Given the description of an element on the screen output the (x, y) to click on. 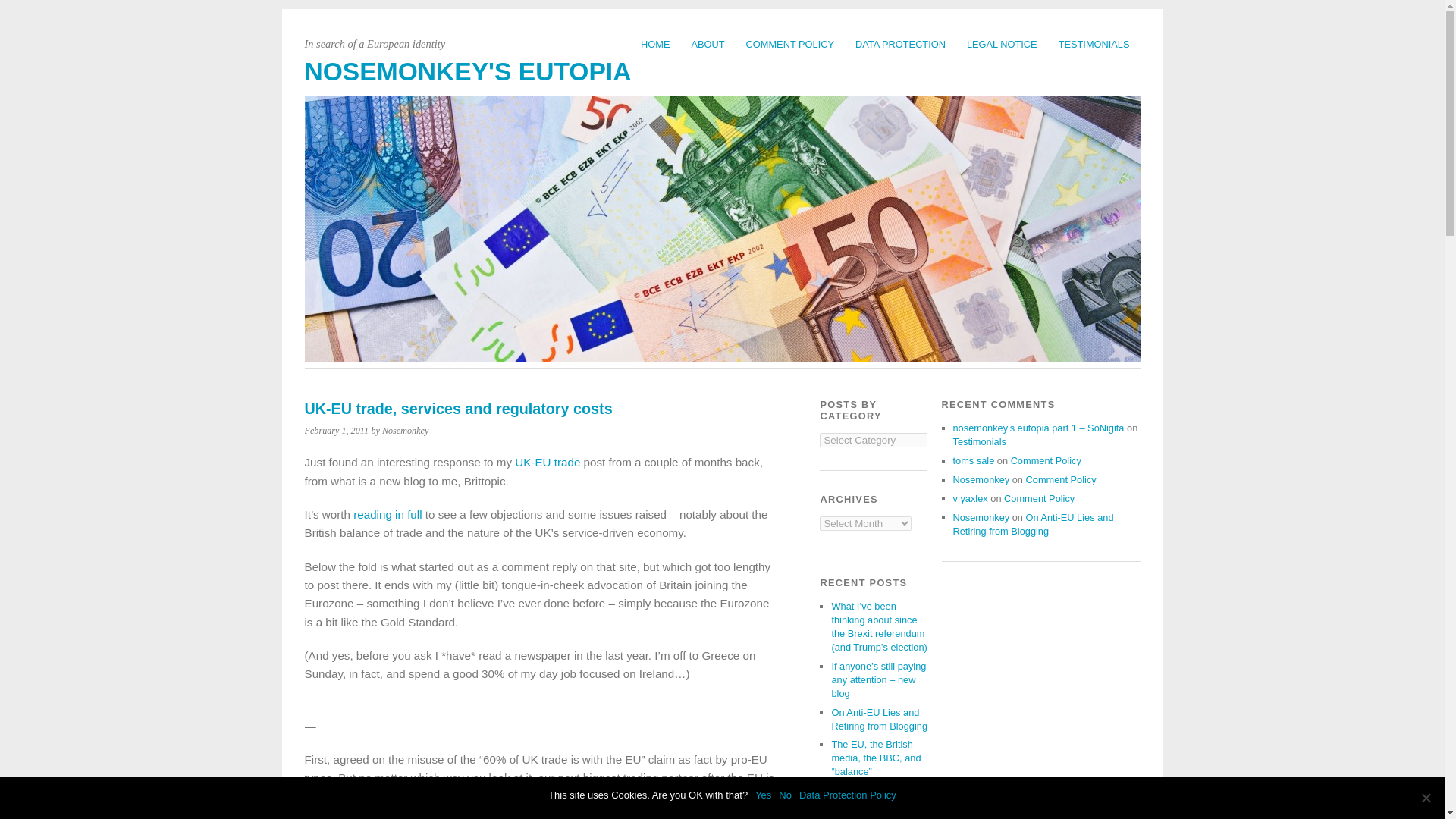
COMMENT POLICY (789, 43)
TESTIMONIALS (1094, 43)
v yaxlex (969, 498)
Nosemonkey (980, 517)
No (1425, 797)
Comment Policy (1061, 479)
NOSEMONKEY'S EUTOPIA (467, 71)
On Anti-EU Lies and Retiring from Blogging (879, 719)
ABOUT (708, 43)
reading in full (387, 513)
LEGAL NOTICE (1002, 43)
toms sale (973, 460)
DATA PROTECTION (900, 43)
Comment Policy (1045, 460)
Testimonials (979, 441)
